Given the description of an element on the screen output the (x, y) to click on. 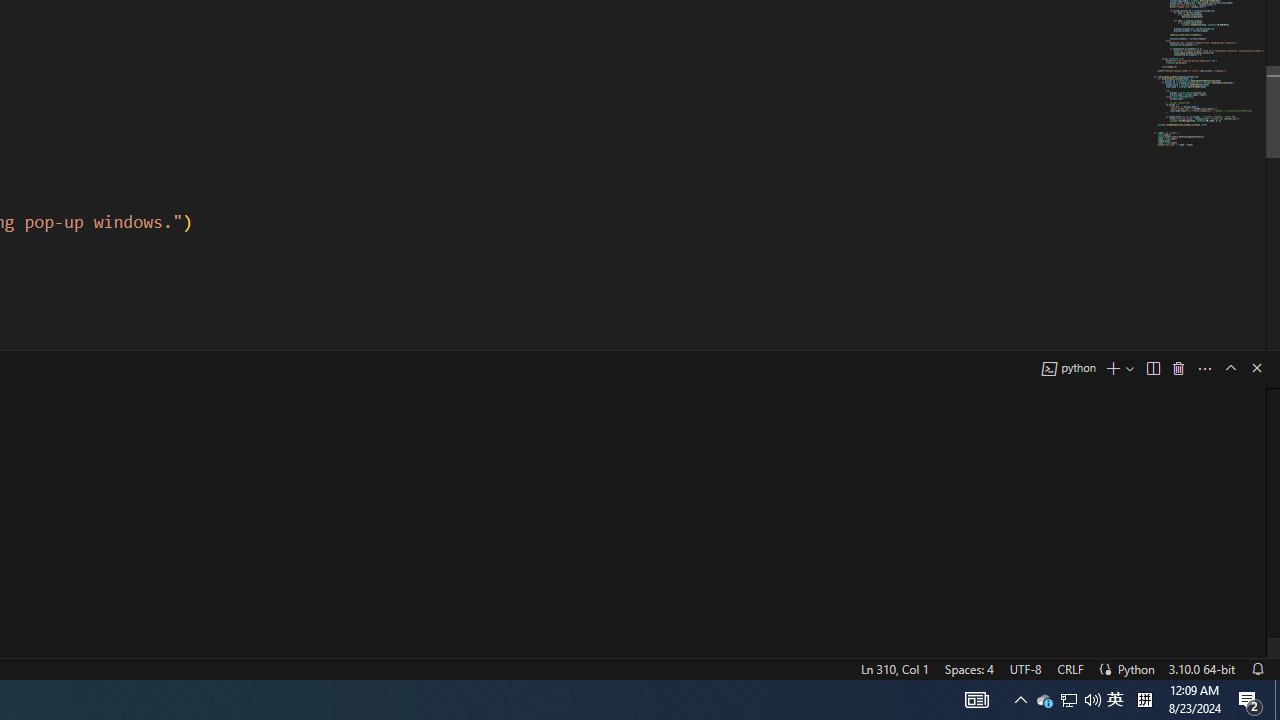
Maximize Panel Size (1230, 367)
Python (1135, 668)
Spaces: 4 (968, 668)
Split Terminal (Ctrl+Shift+5) (1152, 368)
Views and More Actions... (1205, 368)
Launch Profile... (1129, 368)
Kill Terminal (1178, 368)
Ln 310, Col 1 (894, 668)
CRLF (1070, 668)
